Given the description of an element on the screen output the (x, y) to click on. 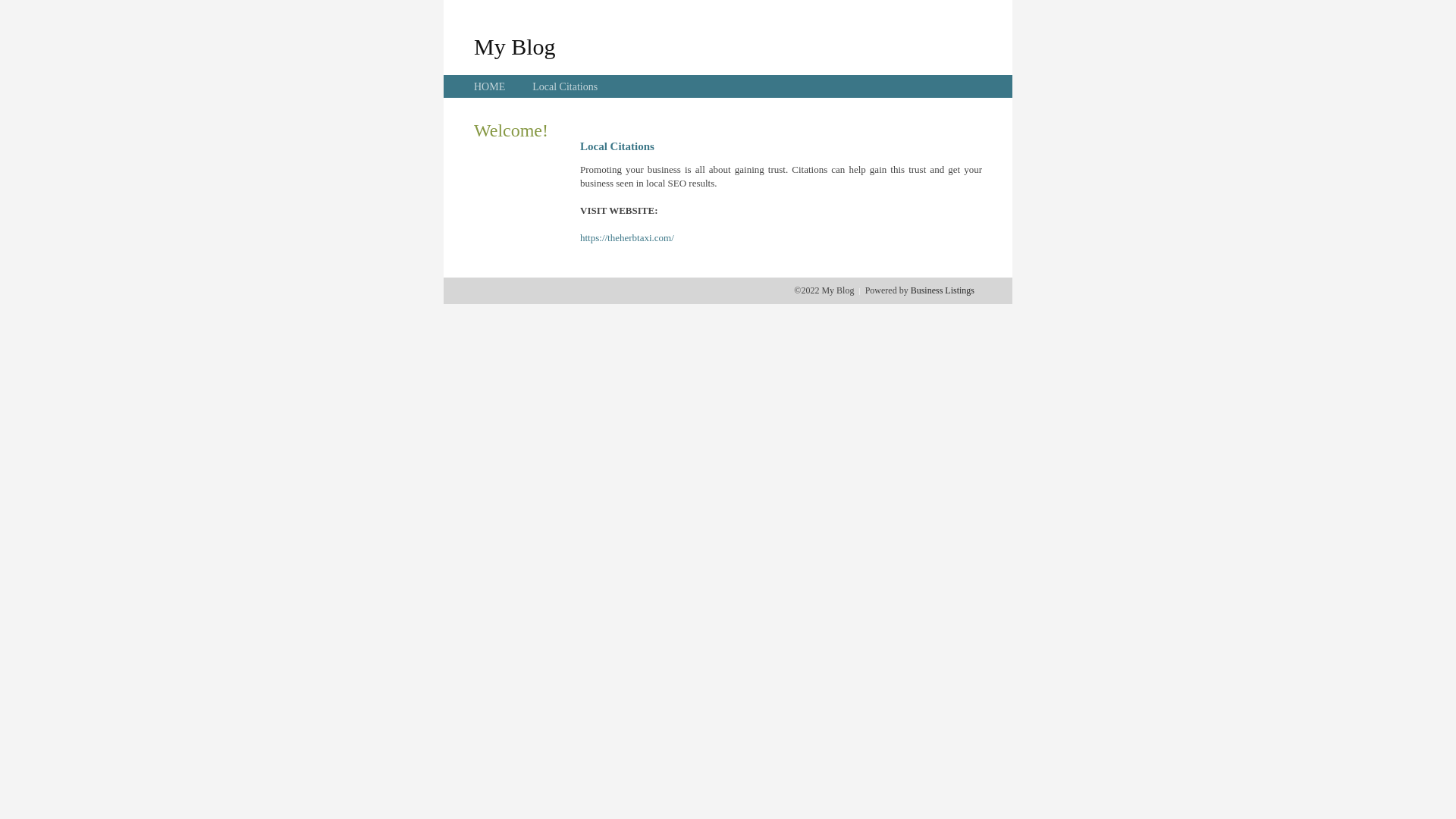
Local Citations Element type: text (564, 86)
My Blog Element type: text (514, 46)
HOME Element type: text (489, 86)
https://theherbtaxi.com/ Element type: text (627, 237)
Business Listings Element type: text (942, 290)
